Given the description of an element on the screen output the (x, y) to click on. 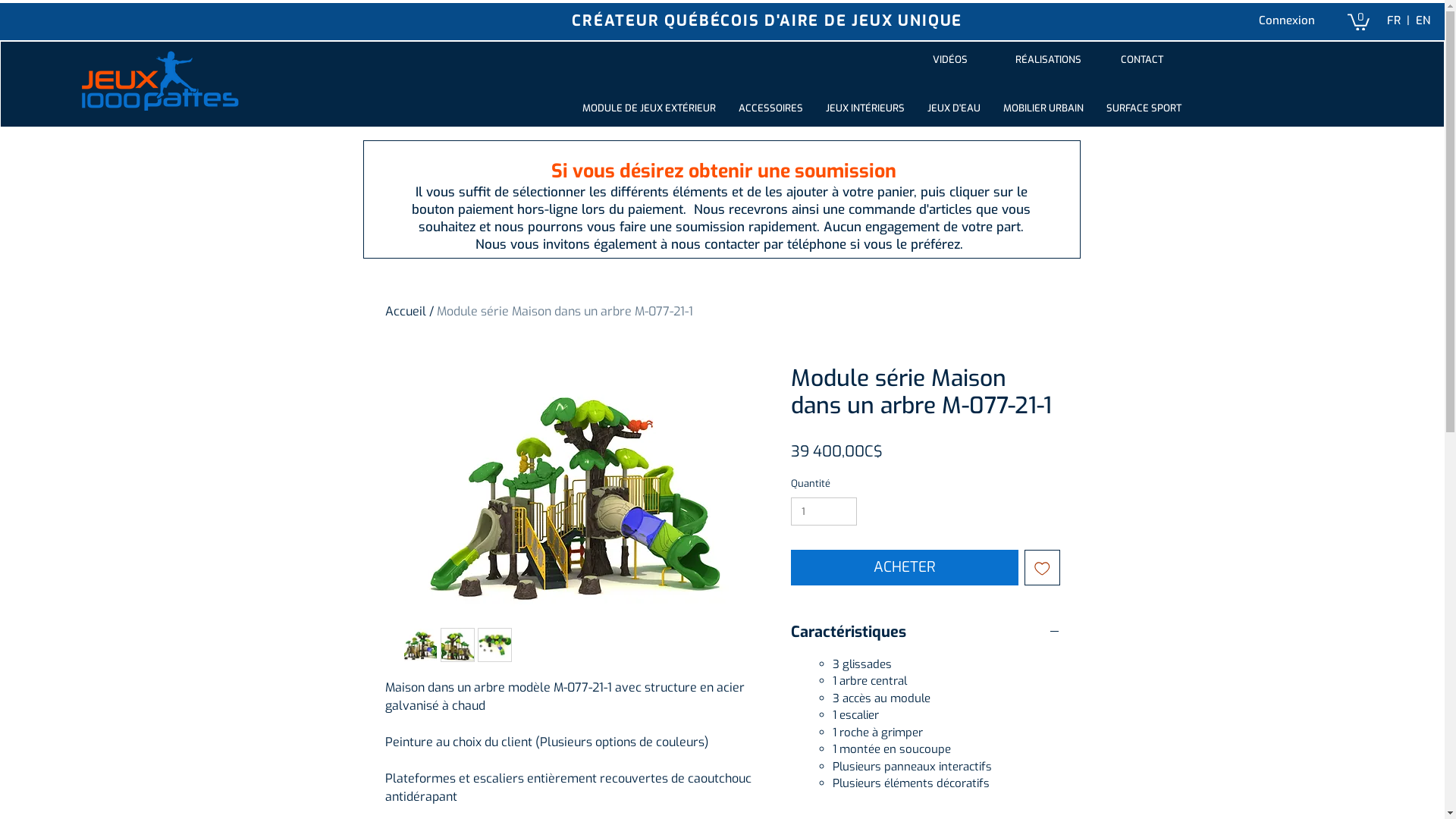
EN Element type: text (1422, 20)
Connexion Element type: text (1286, 20)
SURFACE SPORT Element type: text (1143, 108)
FR Element type: text (1392, 20)
JEUX D'EAU Element type: text (953, 108)
MOBILIER URBAIN Element type: text (1043, 108)
ACCESSOIRES Element type: text (770, 108)
0 Element type: text (1358, 21)
ACHETER Element type: text (904, 567)
CONTACT Element type: text (1141, 60)
Accueil Element type: text (405, 311)
